Given the description of an element on the screen output the (x, y) to click on. 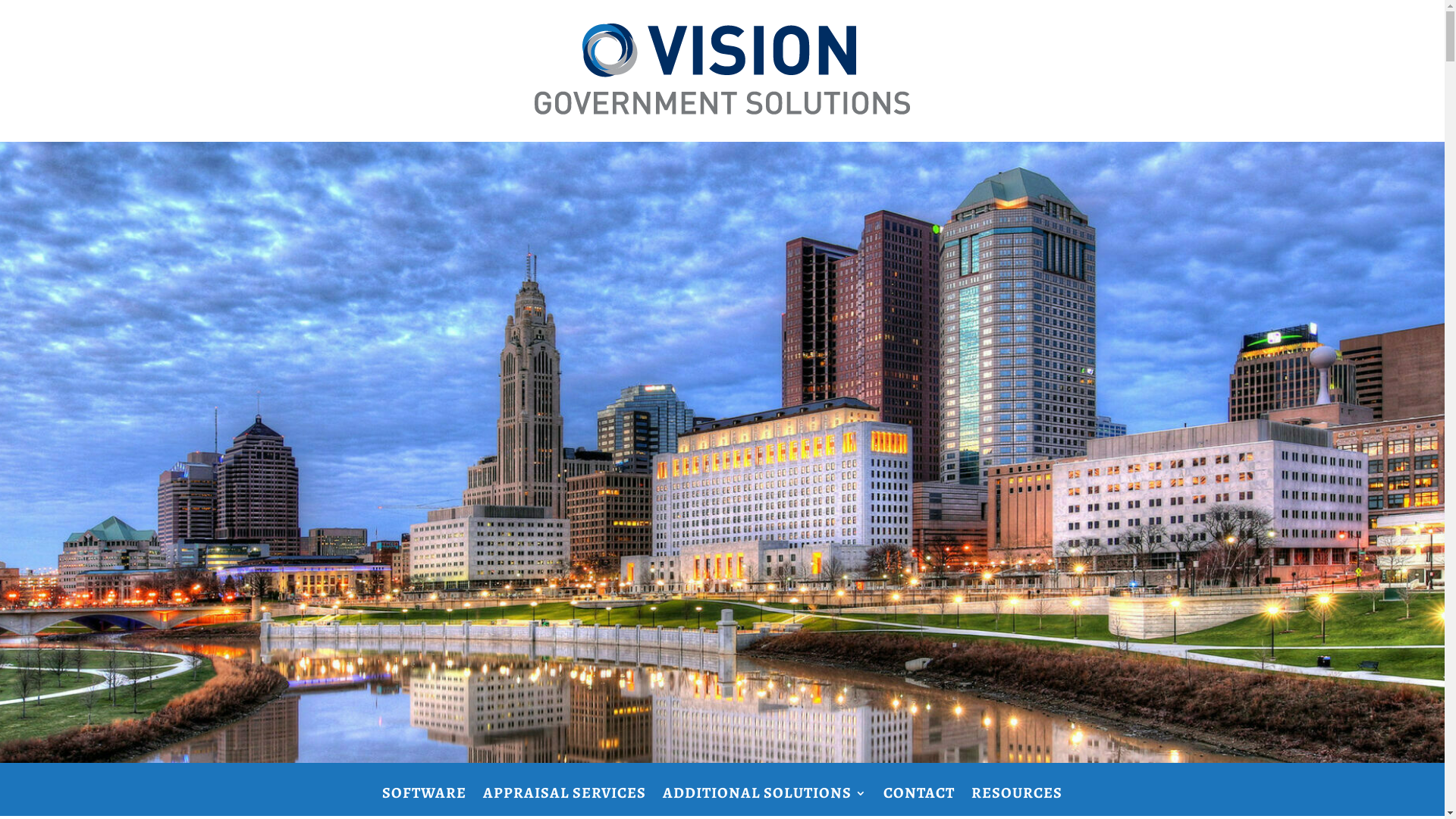
Vision Logo - FULL COLOR FOR LIGHT BACKGROUNDS Element type: hover (722, 68)
